Given the description of an element on the screen output the (x, y) to click on. 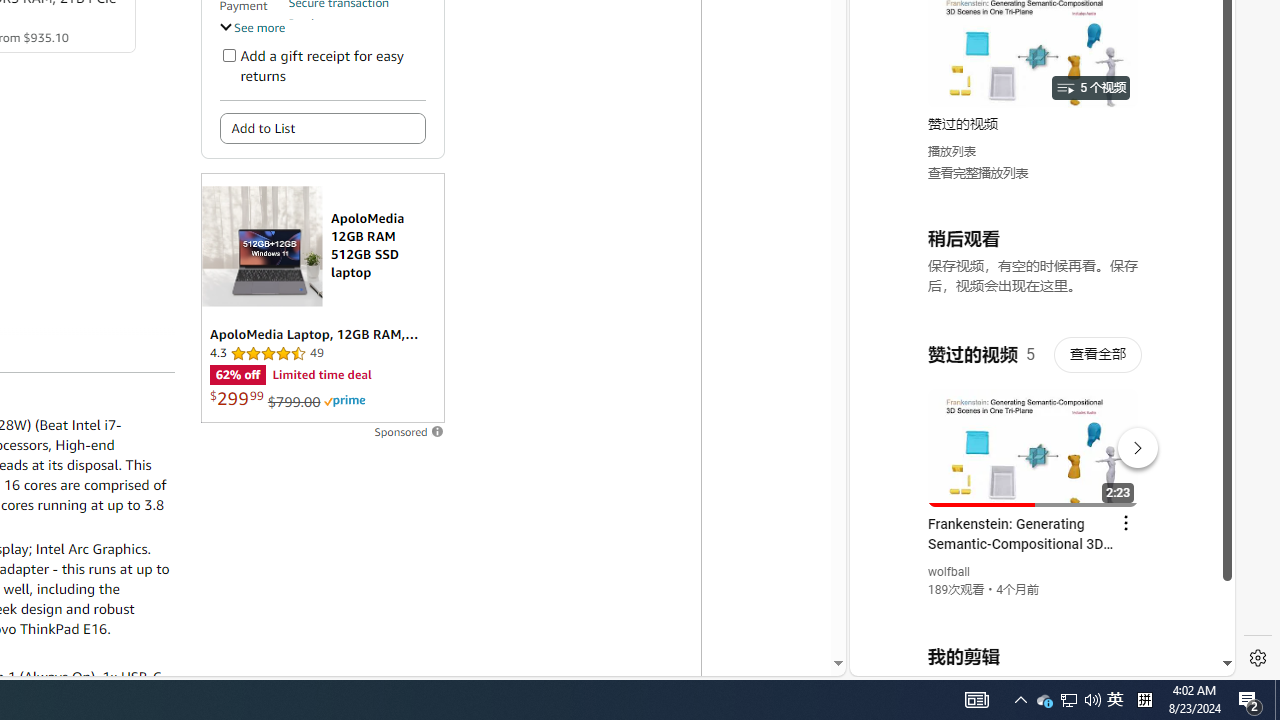
Prime (344, 400)
you (1034, 609)
YouTube - YouTube (1034, 266)
Add a gift receipt for easy returns (228, 54)
YouTube (1034, 432)
Product support included (357, 31)
Class: dict_pnIcon rms_img (1028, 660)
Sponsored ad (322, 297)
